Given the description of an element on the screen output the (x, y) to click on. 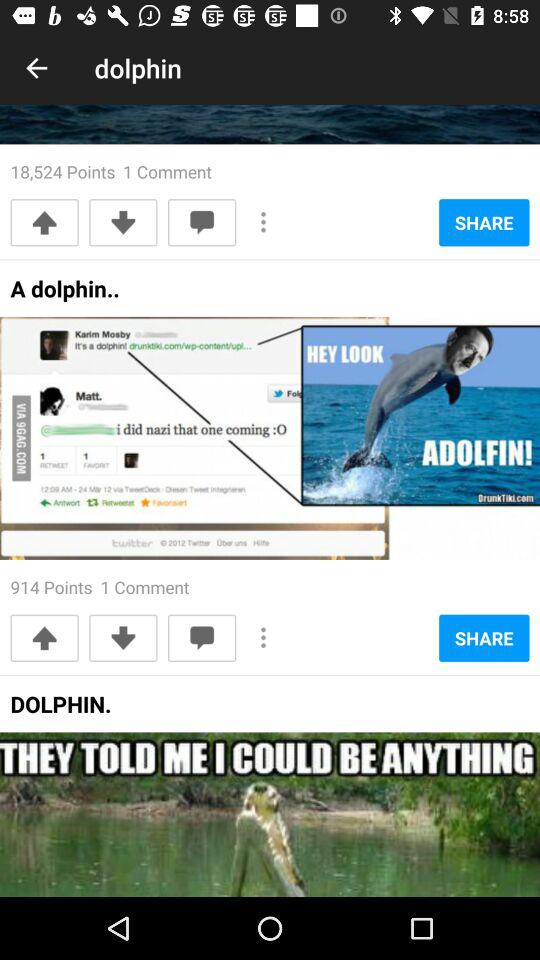
tap icon next to the dolphin item (36, 68)
